Given the description of an element on the screen output the (x, y) to click on. 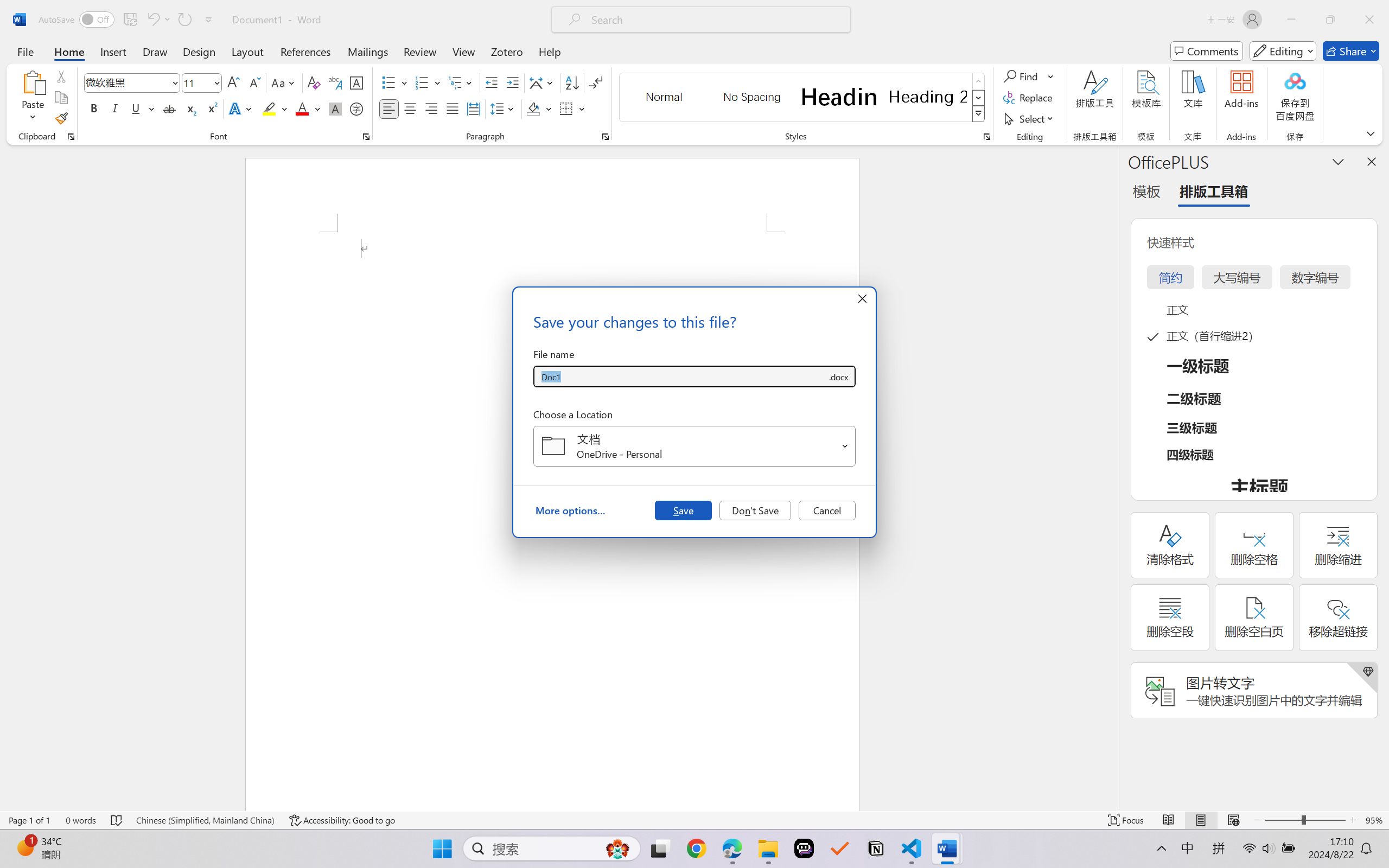
Language Chinese (Simplified, Mainland China) (205, 819)
Don't Save (755, 509)
